Given the description of an element on the screen output the (x, y) to click on. 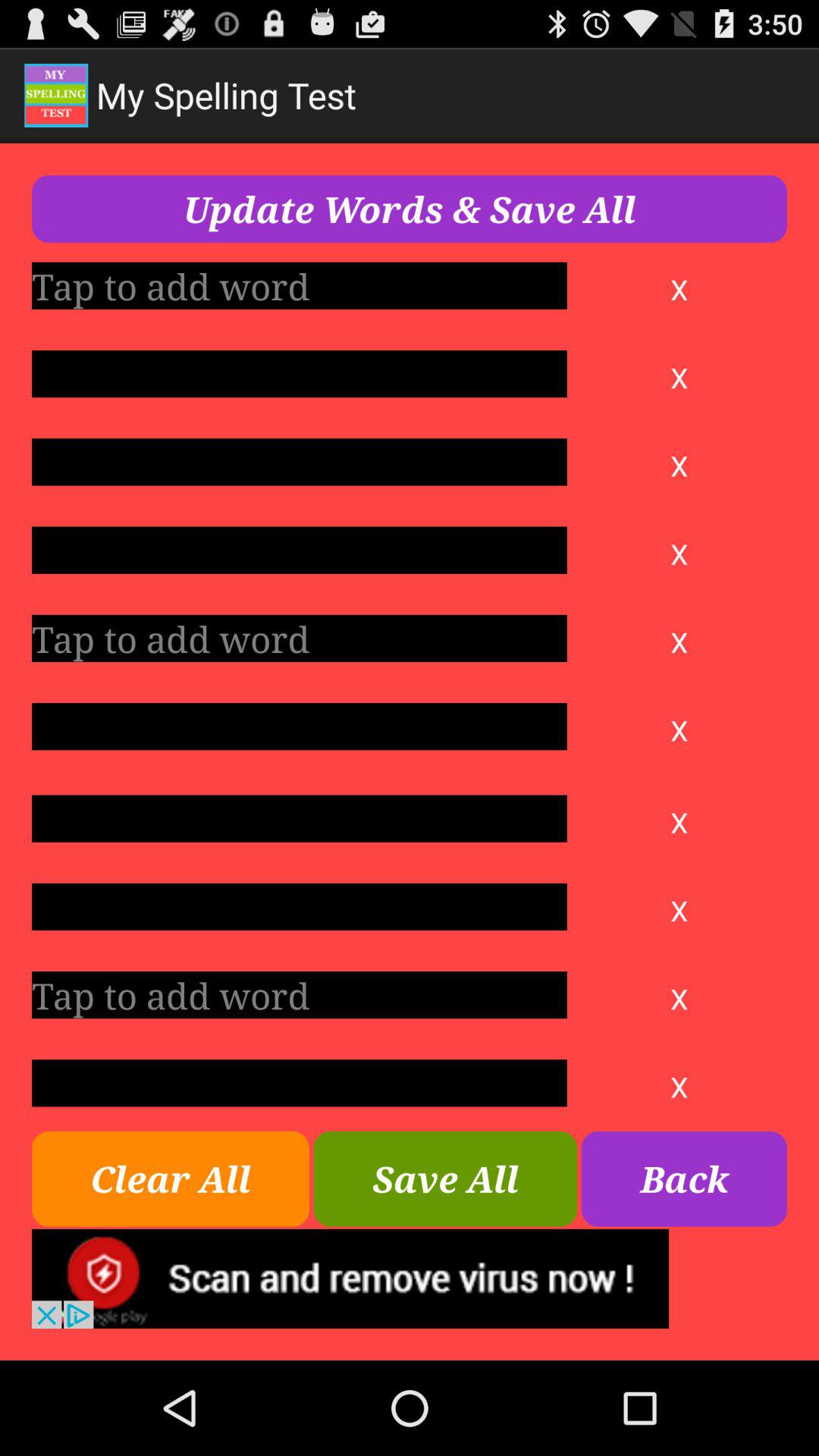
add a new word (299, 638)
